Given the description of an element on the screen output the (x, y) to click on. 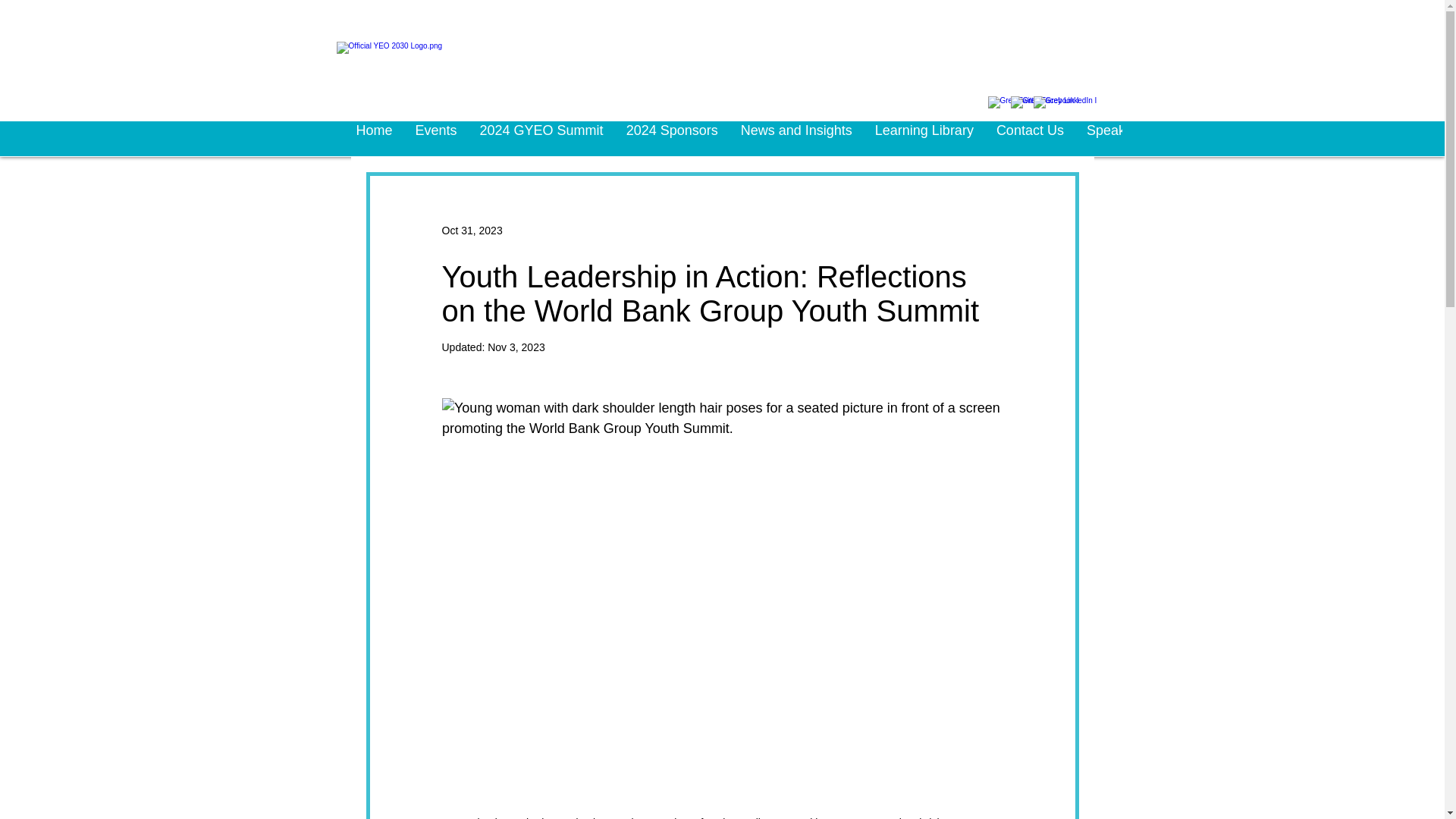
2024 GYEO Summit (541, 138)
Learning Library (924, 138)
2024 Sponsors (671, 138)
Home (373, 138)
Oct 31, 2023 (471, 230)
Speakers (1115, 138)
Contact Us (1030, 138)
News and Insights (796, 138)
Events (436, 138)
Nov 3, 2023 (515, 346)
